Given the description of an element on the screen output the (x, y) to click on. 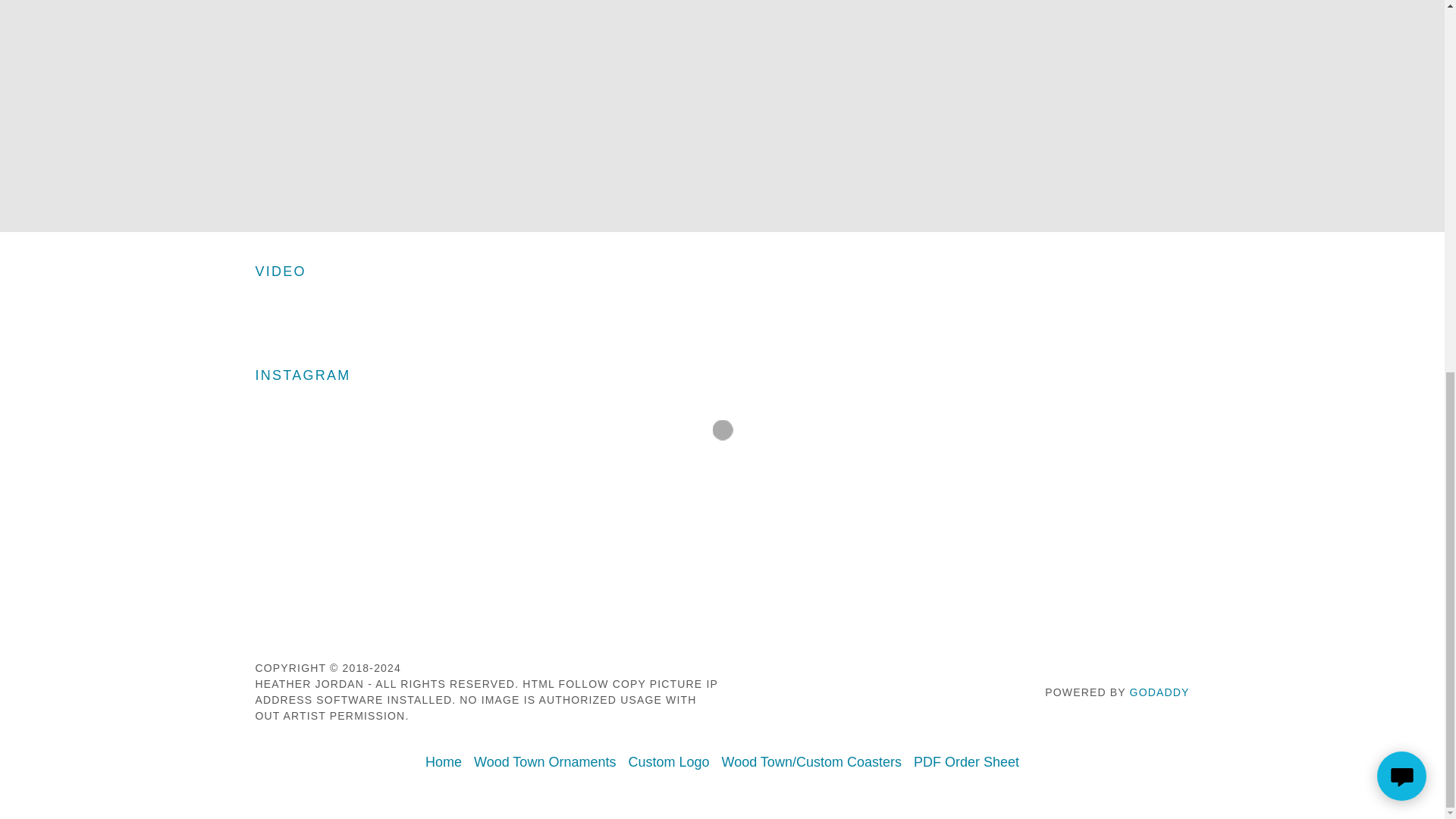
GODADDY (1159, 692)
PDF Order Sheet (966, 762)
Wood Town Ornaments (544, 762)
Home (443, 762)
Custom Logo (667, 762)
